Given the description of an element on the screen output the (x, y) to click on. 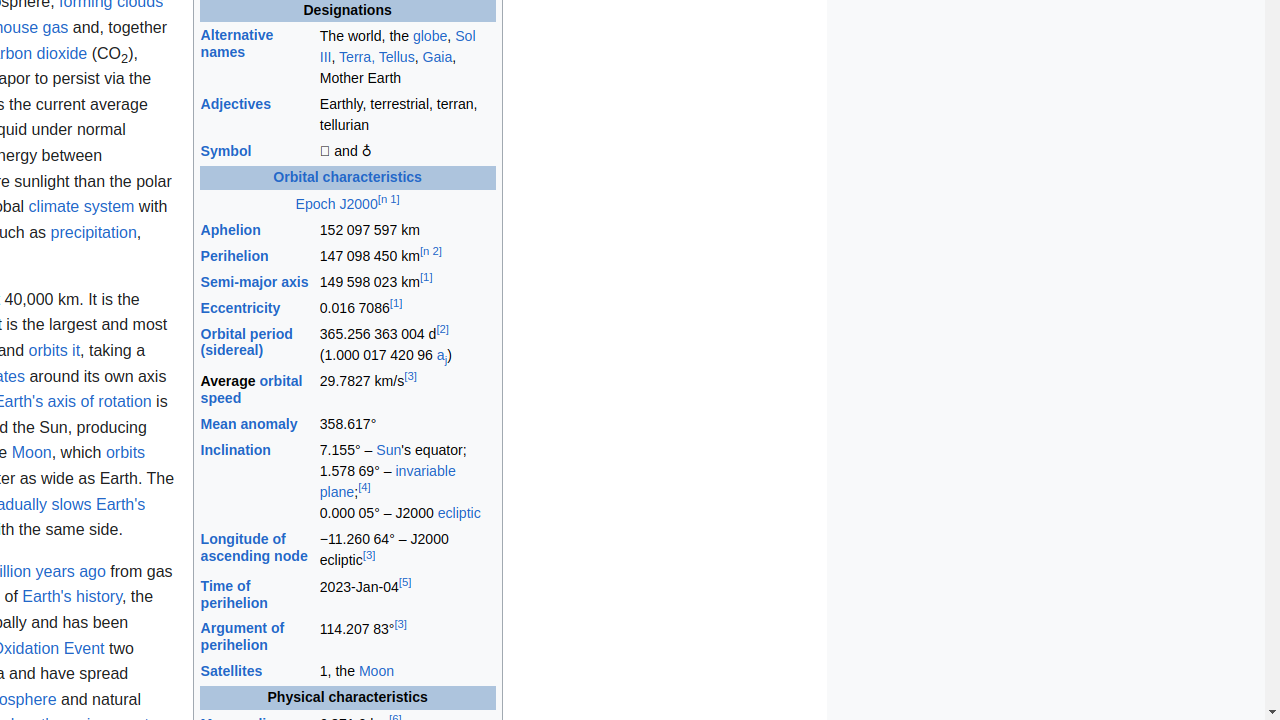
Orbital period (sidereal) Element type: link (246, 342)
Mean anomaly Element type: link (249, 423)
🜨 and ♁ Element type: table-cell (407, 152)
[n 2] Element type: link (430, 251)
2023-Jan-04[5] Element type: table-cell (407, 595)
